Given the description of an element on the screen output the (x, y) to click on. 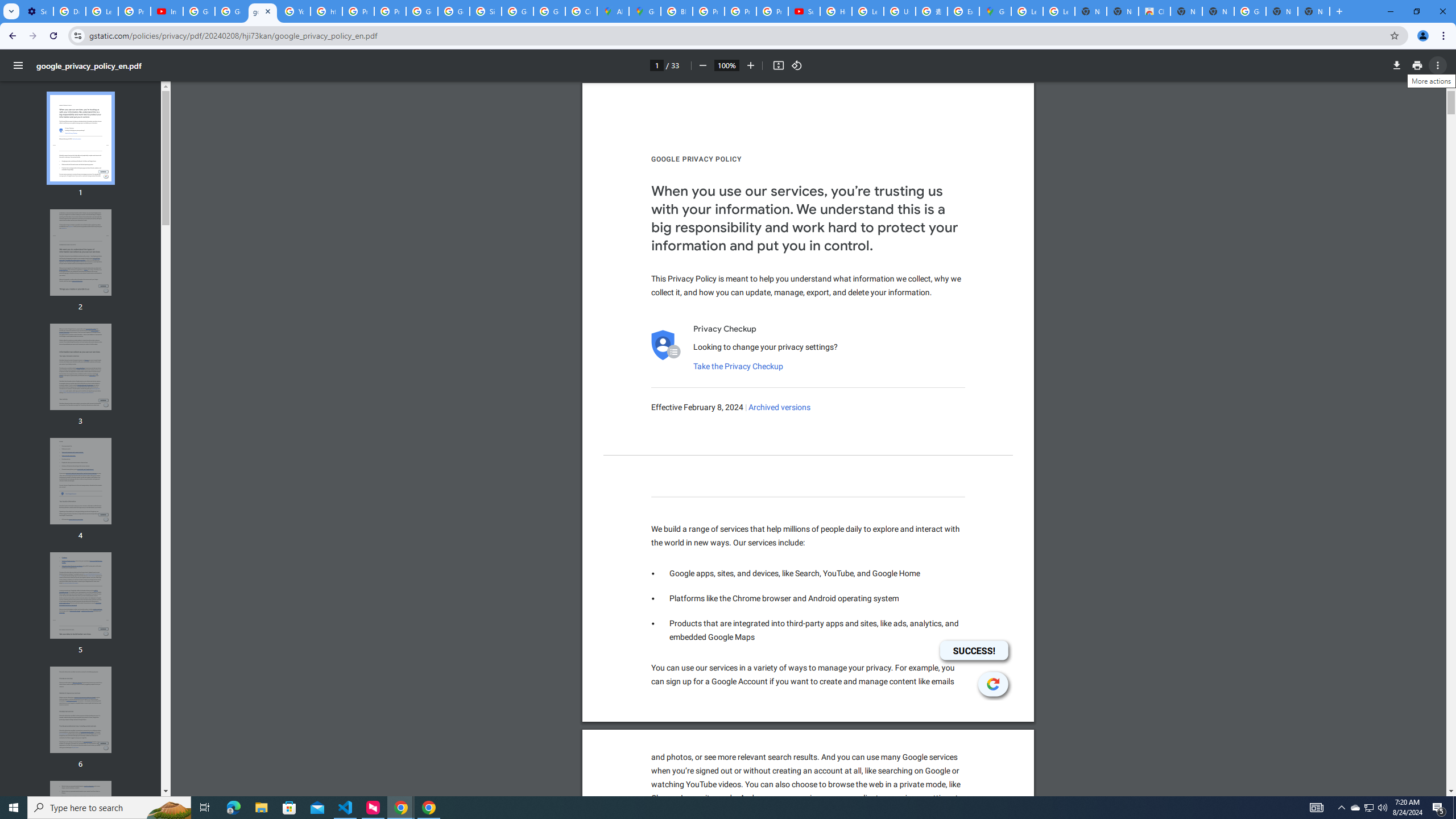
Zoom level (726, 64)
Google Images (1249, 11)
Zoom in (750, 65)
Print (1416, 65)
YouTube (294, 11)
Chrome Web Store (1154, 11)
Subscriptions - YouTube (804, 11)
